Given the description of an element on the screen output the (x, y) to click on. 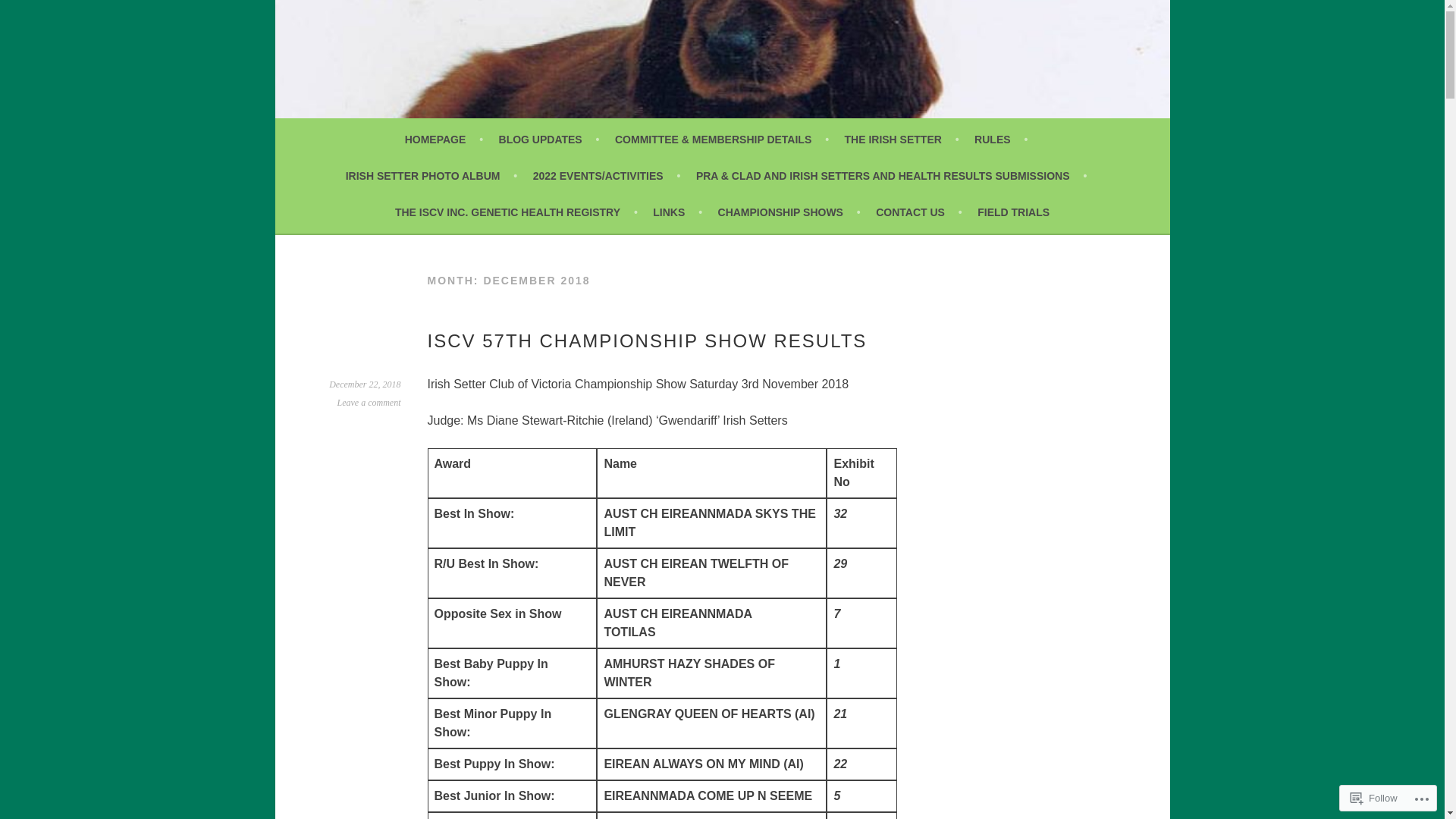
PRA & CLAD AND IRISH SETTERS AND HEALTH RESULTS SUBMISSIONS Element type: text (891, 175)
CONTACT US Element type: text (918, 212)
Search Element type: text (30, 13)
LINKS Element type: text (677, 212)
THE ISCV INC. GENETIC HEALTH REGISTRY Element type: text (516, 212)
Follow Element type: text (1373, 797)
COMMITTEE & MEMBERSHIP DETAILS Element type: text (721, 139)
HOMEPAGE Element type: text (443, 139)
December 22, 2018 Element type: text (364, 384)
CHAMPIONSHIP SHOWS Element type: text (789, 212)
ISCV 57TH CHAMPIONSHIP SHOW RESULTS Element type: text (647, 340)
IRISH SETTER PHOTO ALBUM Element type: text (431, 175)
RULES Element type: text (1000, 139)
IRISH SETTER CLUB OF VICTORIA Element type: text (562, 71)
BLOG UPDATES Element type: text (548, 139)
2022 EVENTS/ACTIVITIES Element type: text (606, 175)
FIELD TRIALS Element type: text (1013, 212)
THE IRISH SETTER Element type: text (901, 139)
Leave a comment Element type: text (369, 402)
